Given the description of an element on the screen output the (x, y) to click on. 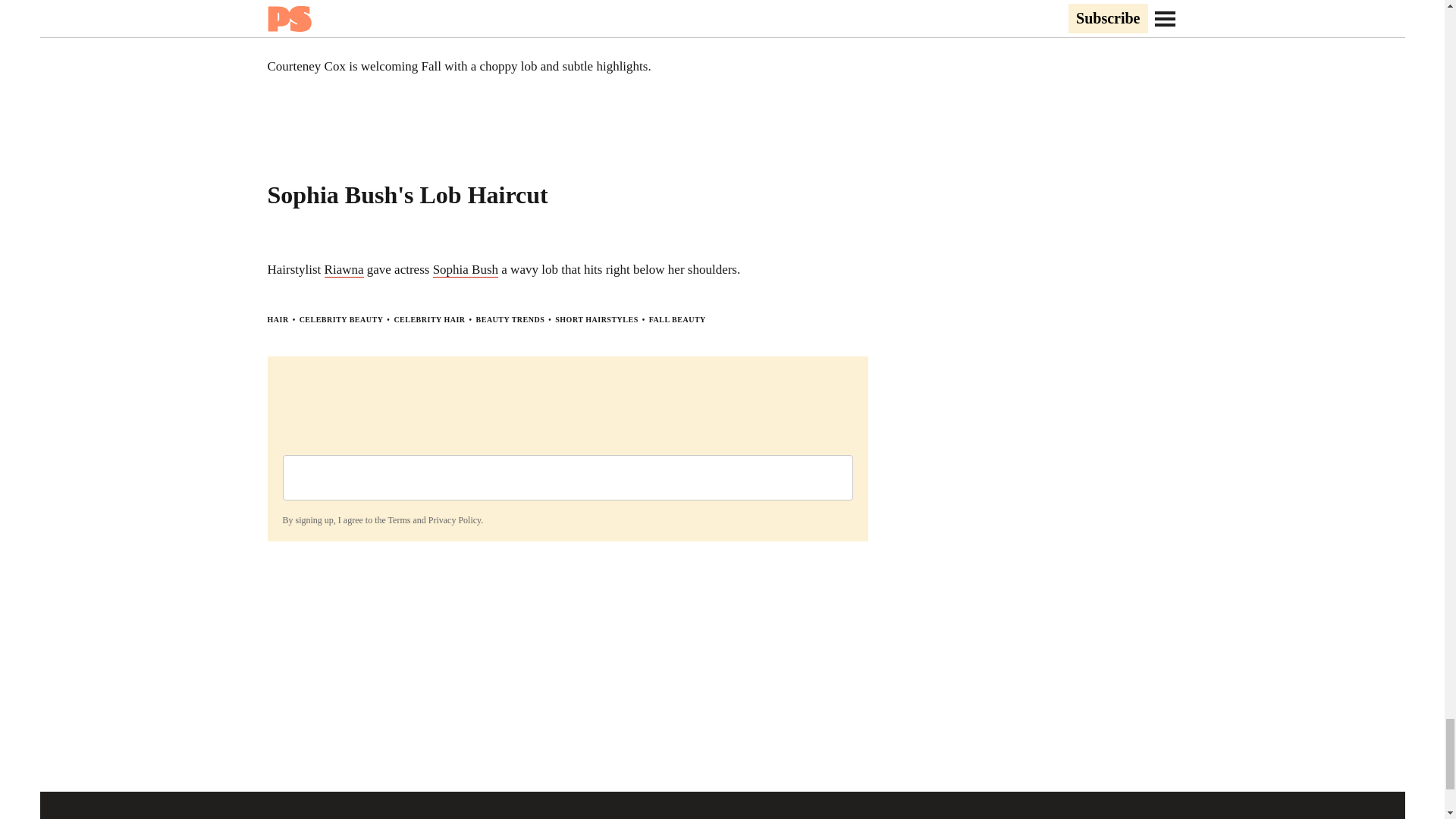
SHORT HAIRSTYLES (595, 319)
CELEBRITY BEAUTY (341, 319)
Riawna (344, 269)
CELEBRITY HAIR (428, 319)
HAIR (277, 319)
FALL BEAUTY (677, 319)
Sophia Bush (464, 269)
Terms (399, 519)
BEAUTY TRENDS (510, 319)
Privacy Policy. (455, 519)
